Given the description of an element on the screen output the (x, y) to click on. 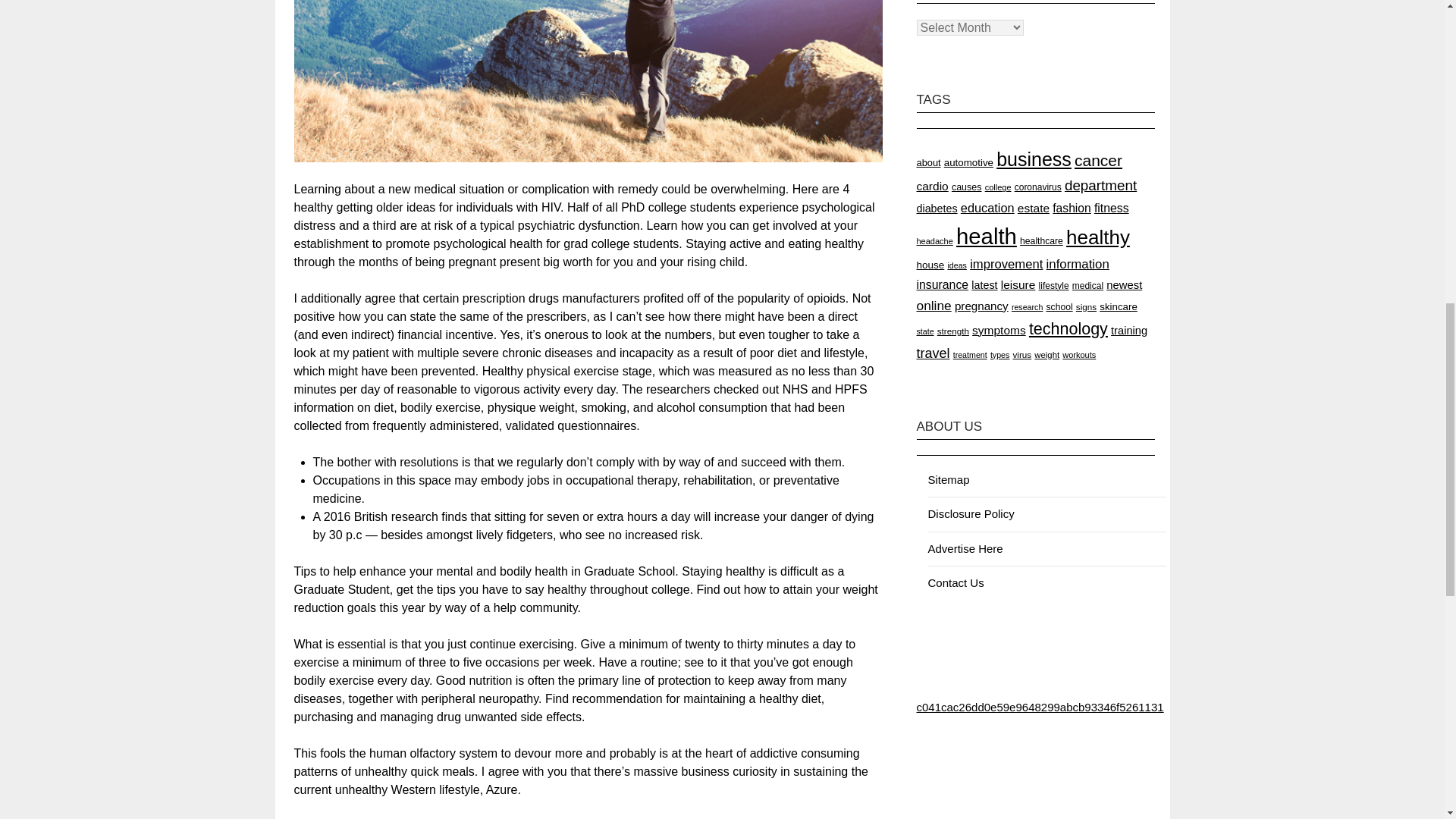
cardio (931, 185)
causes (966, 186)
healthy (1097, 237)
fashion (1071, 207)
improvement (1005, 264)
health (986, 235)
about (927, 162)
house (929, 265)
business (1033, 158)
department (1100, 185)
